Given the description of an element on the screen output the (x, y) to click on. 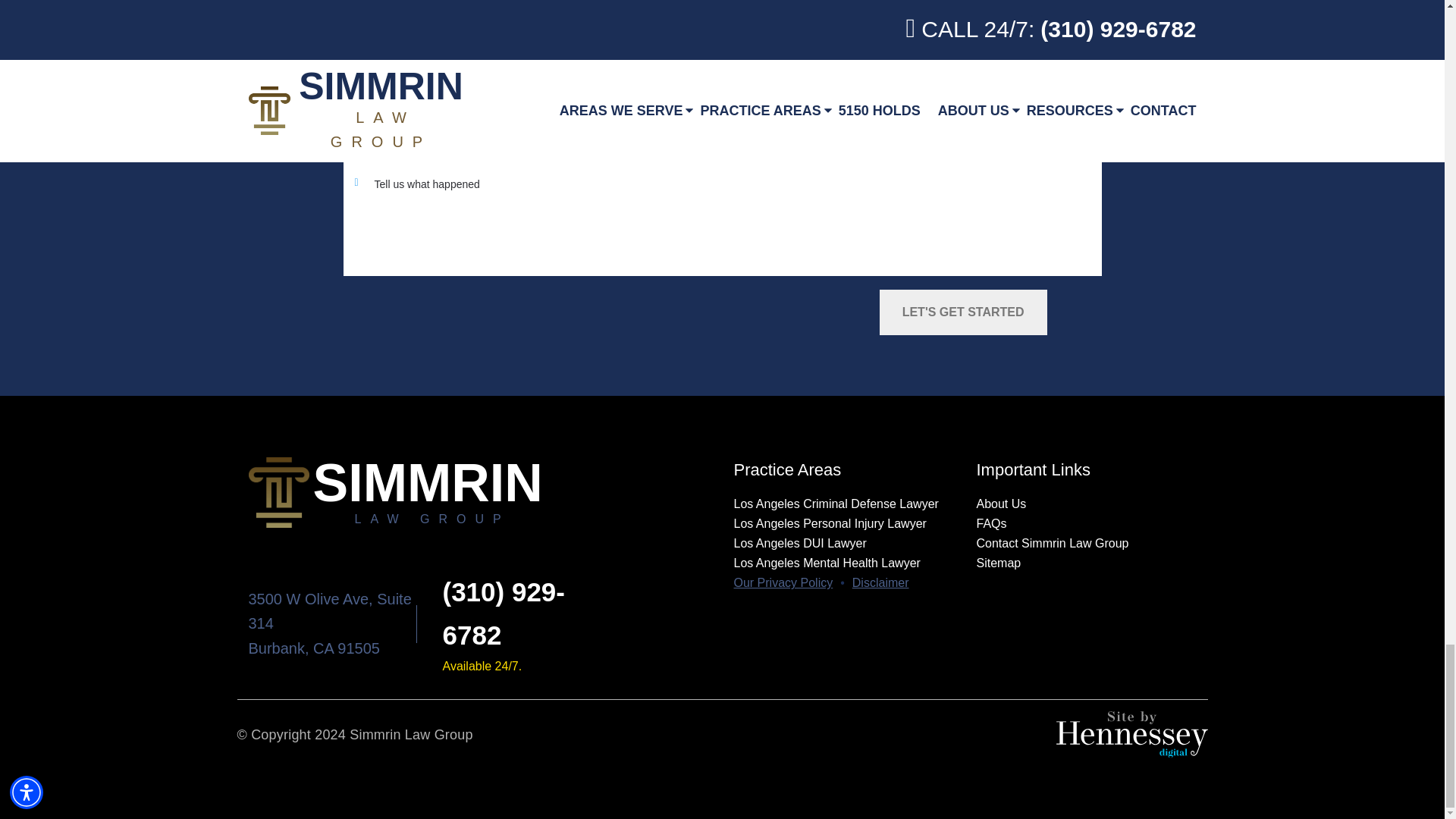
disclaimer (879, 582)
phone (503, 613)
Let's get started (962, 311)
our privacy policy (782, 582)
Simmrin Law (479, 492)
